Given the description of an element on the screen output the (x, y) to click on. 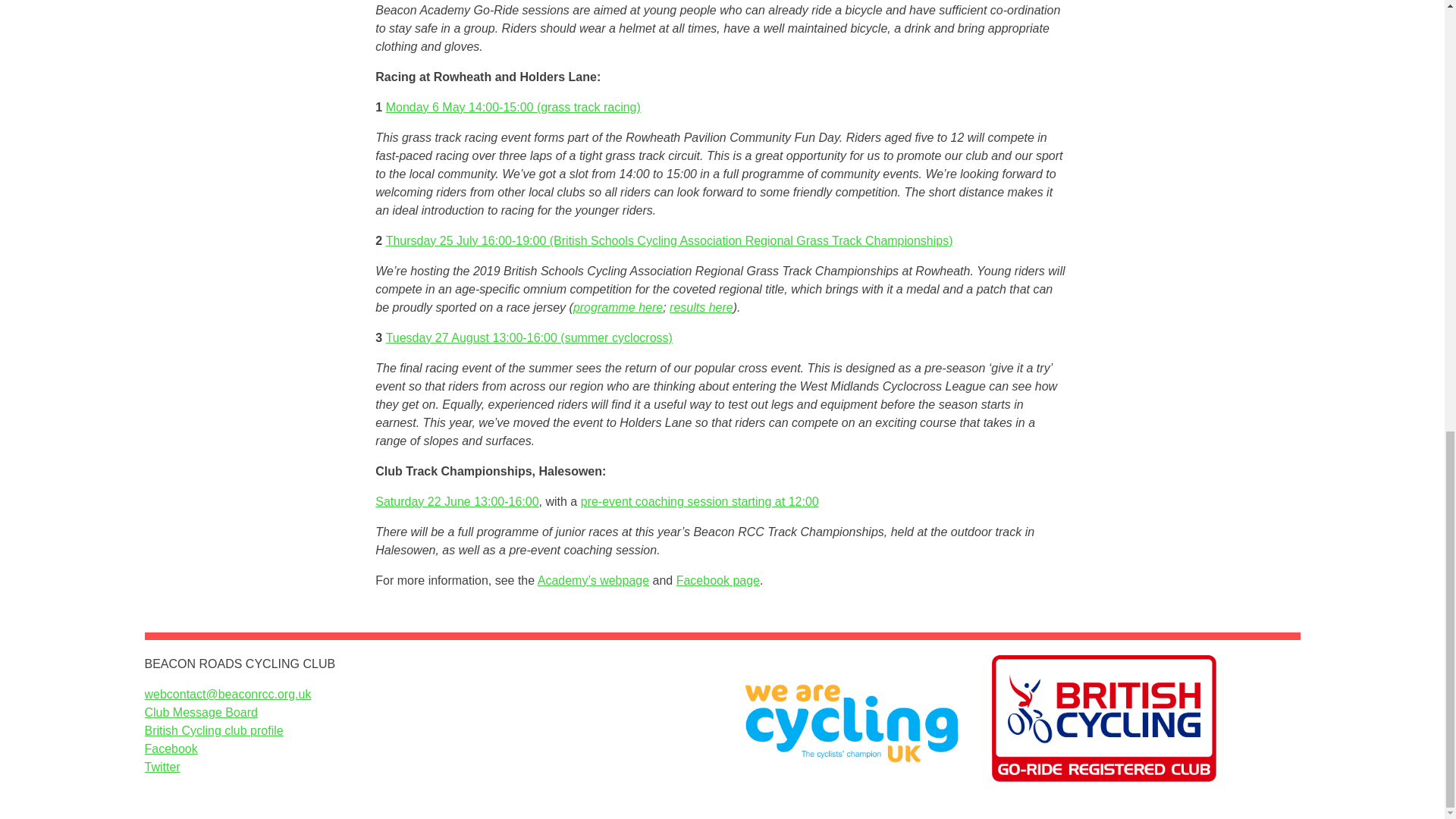
programme here (617, 307)
Twitter (161, 766)
results here (701, 307)
Facebook page (718, 580)
pre-event coaching session starting at 12:00 (699, 501)
Facebook (170, 748)
Club Message Board (200, 712)
Saturday 22 June 13:00-16:00 (456, 501)
British Cycling club profile (213, 730)
